Given the description of an element on the screen output the (x, y) to click on. 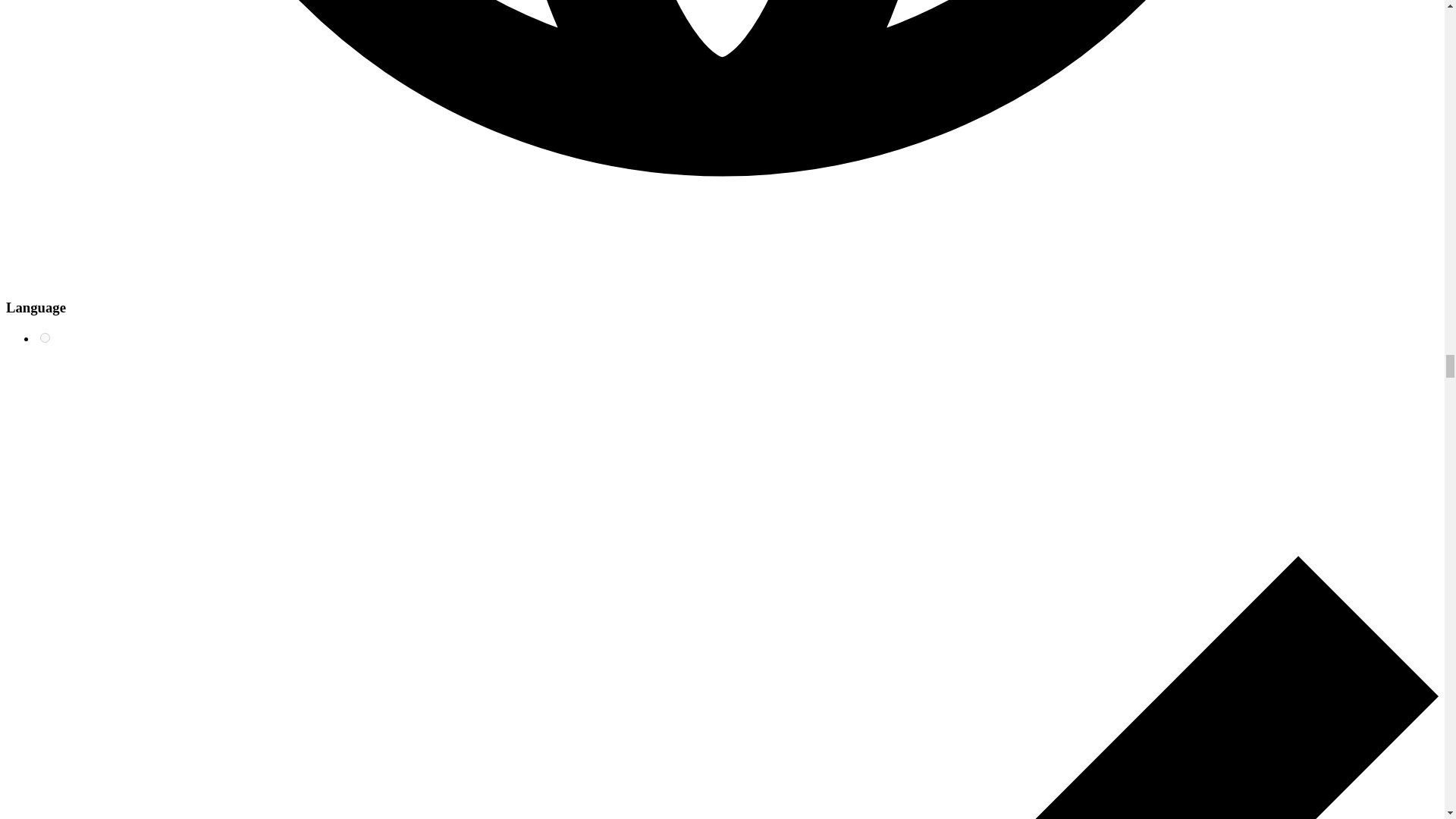
1 (44, 337)
